Given the description of an element on the screen output the (x, y) to click on. 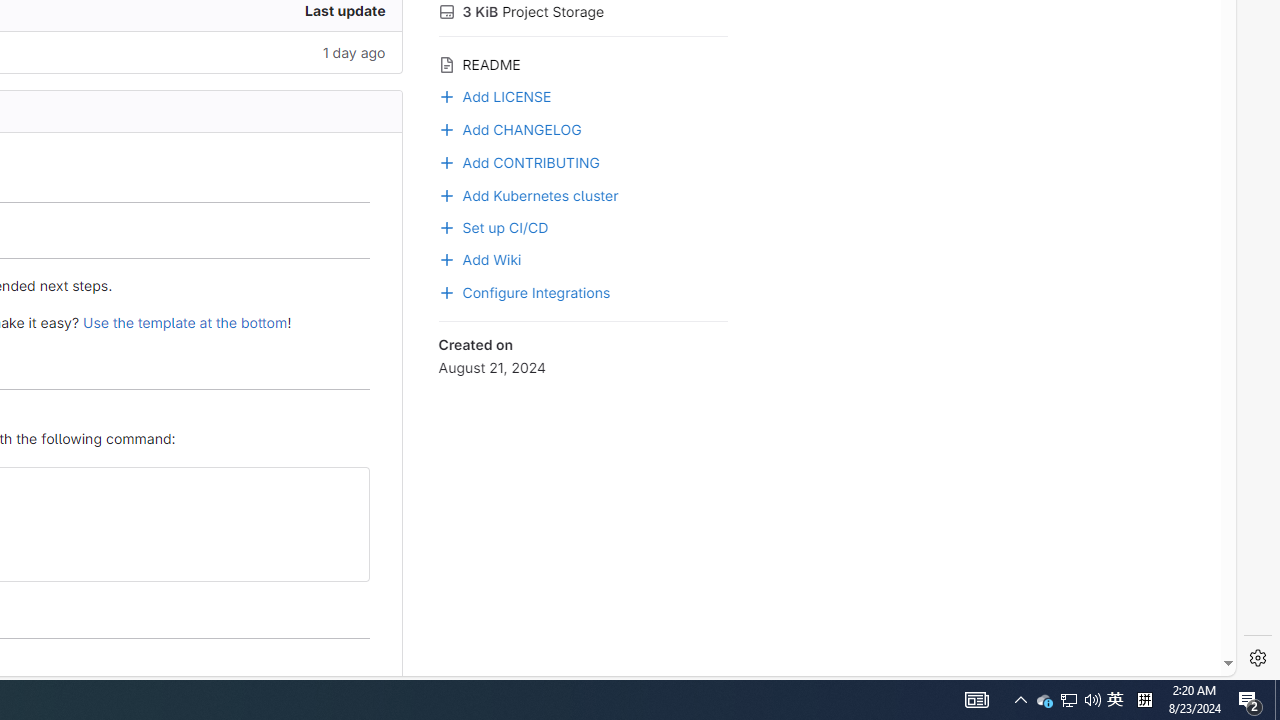
Configure Integrations (582, 291)
Set up CI/CD (582, 225)
Add CONTRIBUTING (582, 160)
Set up CI/CD (493, 225)
Use the template at the bottom (185, 322)
Add Wiki (582, 258)
Add LICENSE (582, 95)
1 day ago (247, 52)
Add CONTRIBUTING (518, 160)
Add LICENSE (494, 94)
Add Kubernetes cluster (582, 194)
Class: btn btn-default btn-md gl-button btn-icon has-tooltip (346, 489)
Class: s16 gl-mr-3 (445, 259)
Class: s16 gl-text-blue-500! gl-mr-3 (445, 162)
